Given the description of an element on the screen output the (x, y) to click on. 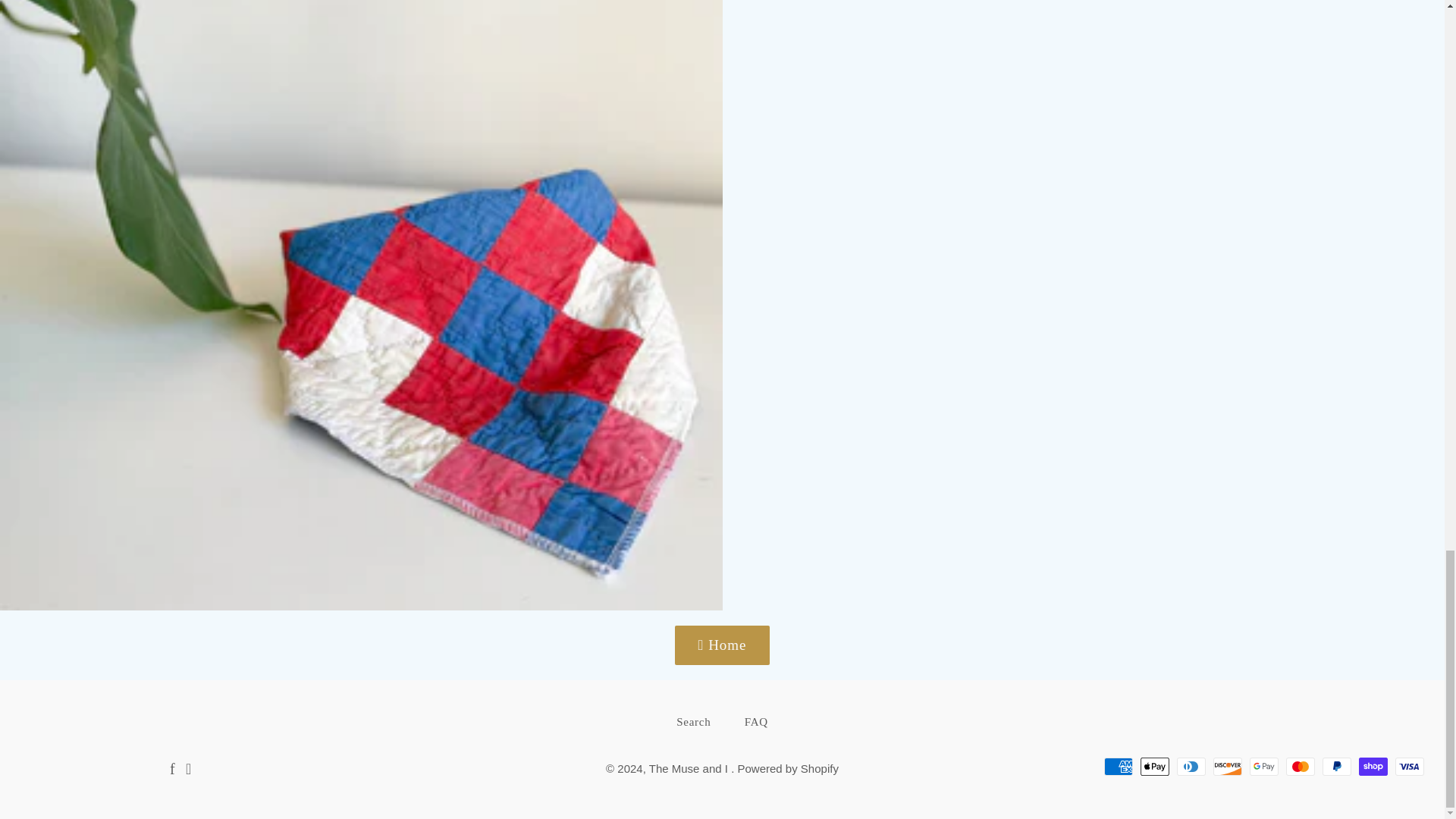
Visa (1408, 766)
Apple Pay (1154, 766)
PayPal (1336, 766)
FAQ (756, 721)
Mastercard (1299, 766)
Home (722, 645)
American Express (1117, 766)
Search (693, 721)
Powered by Shopify (787, 768)
Shop Pay (1372, 766)
